Given the description of an element on the screen output the (x, y) to click on. 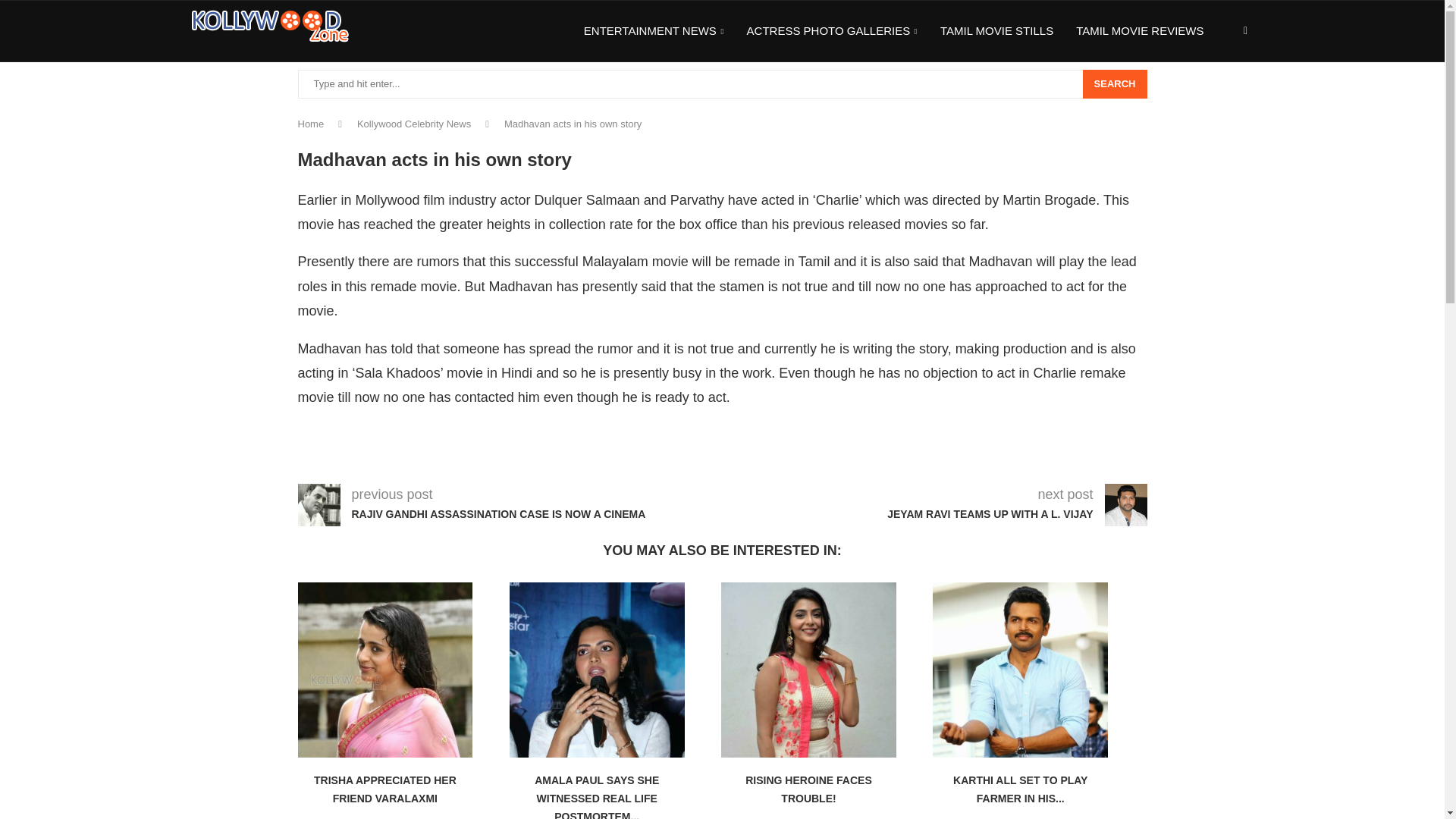
TAMIL MOVIE STILLS (996, 30)
Karthi all set to play farmer in his upcoming movie. (1020, 669)
TAMIL MOVIE REVIEWS (1139, 30)
ACTRESS PHOTO GALLERIES (831, 31)
ENTERTAINMENT NEWS (653, 31)
JEYAM RAVI TEAMS UP WITH A L. VIJAY (980, 514)
Home (310, 123)
RISING HEROINE FACES TROUBLE! (807, 788)
TRISHA APPRECIATED HER FRIEND VARALAXMI (385, 788)
Rising heroine faces trouble! (808, 669)
SEARCH (1115, 83)
Kollywood Celebrity News (413, 123)
Trisha appreciated her friend Varalaxmi (384, 669)
RAJIV GANDHI ASSASSINATION CASE IS NOW A CINEMA (508, 514)
